Given the description of an element on the screen output the (x, y) to click on. 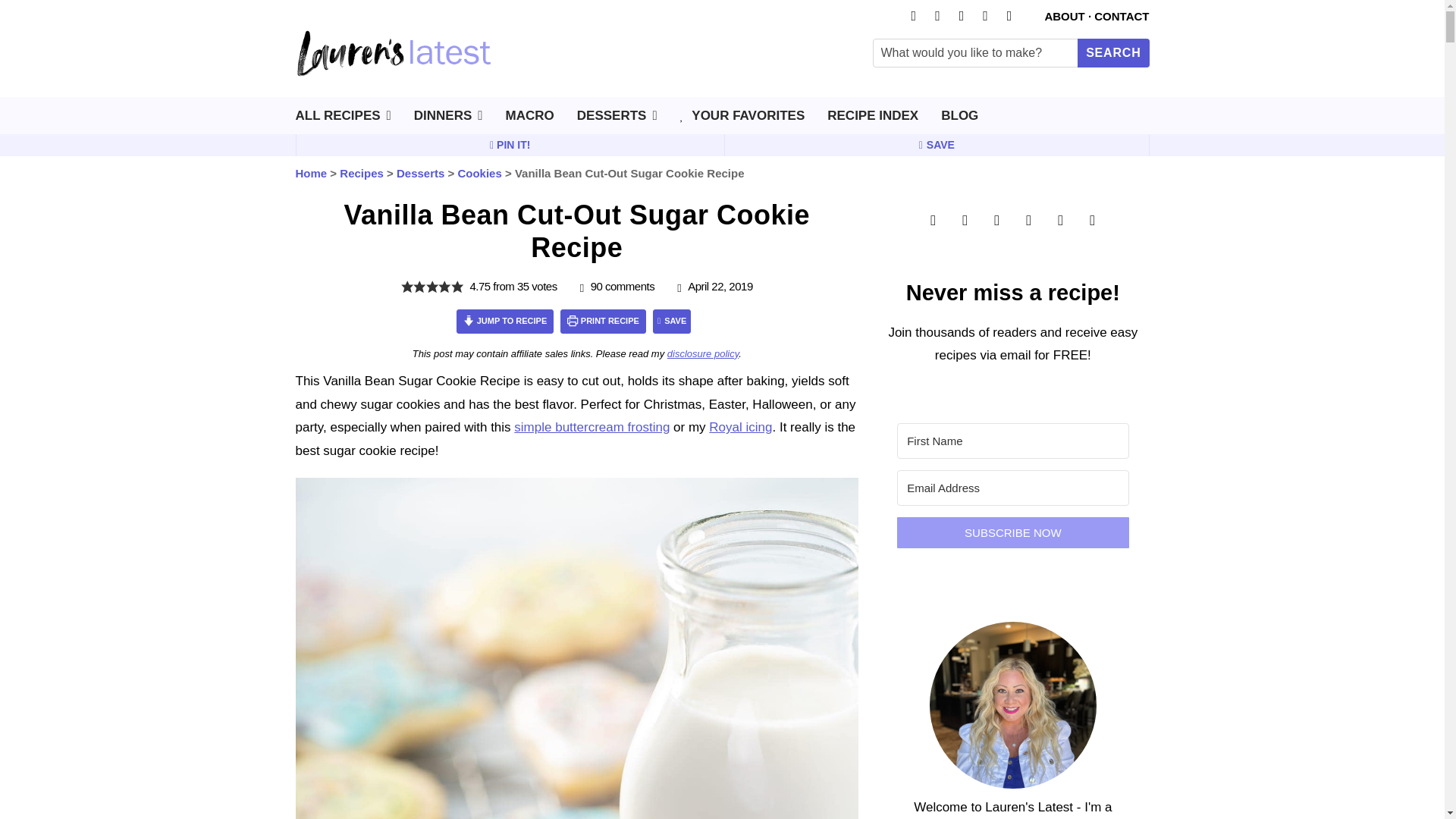
Pin It! (509, 144)
ABOUT (1063, 15)
CONTACT (1121, 15)
DESSERTS (617, 119)
Search (1112, 52)
MACRO (529, 119)
DINNERS (448, 119)
ALL RECIPES (343, 119)
Search (1112, 52)
Search (1112, 52)
